Given the description of an element on the screen output the (x, y) to click on. 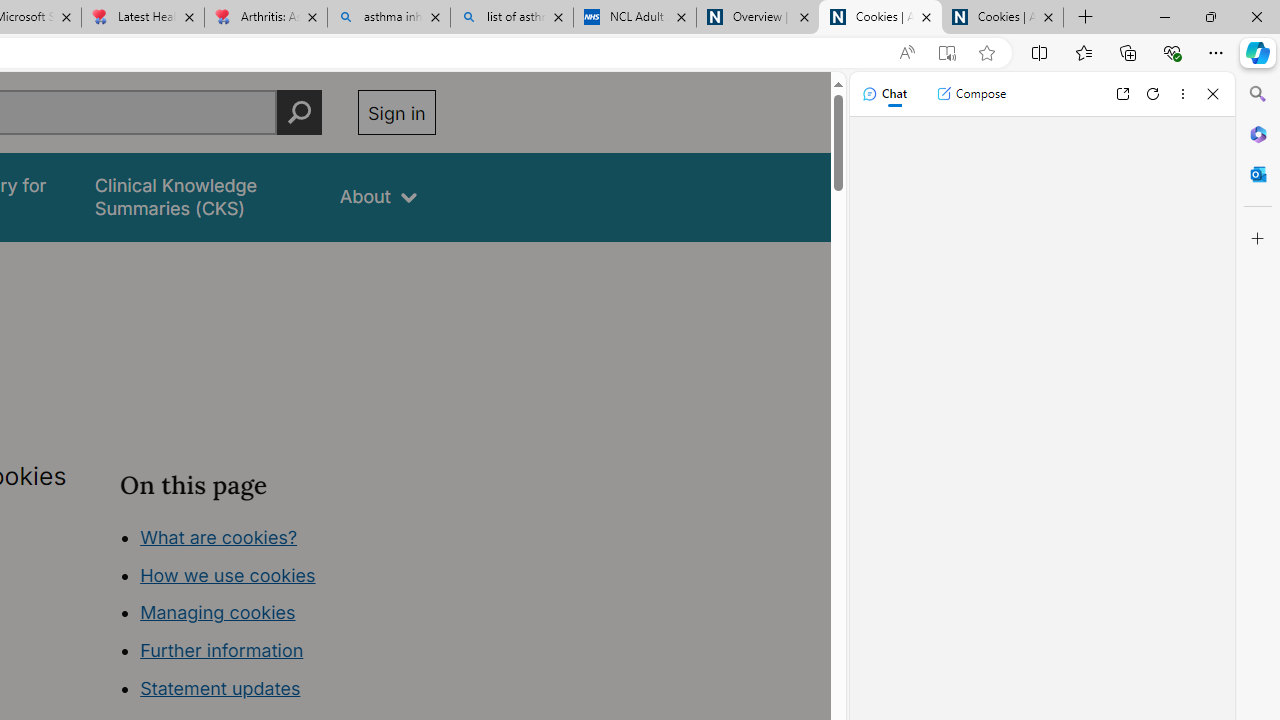
How we use cookies (227, 574)
NCL Adult Asthma Inhaler Choice Guideline (634, 17)
Sign in (396, 112)
Further information (221, 650)
About (378, 196)
